Given the description of an element on the screen output the (x, y) to click on. 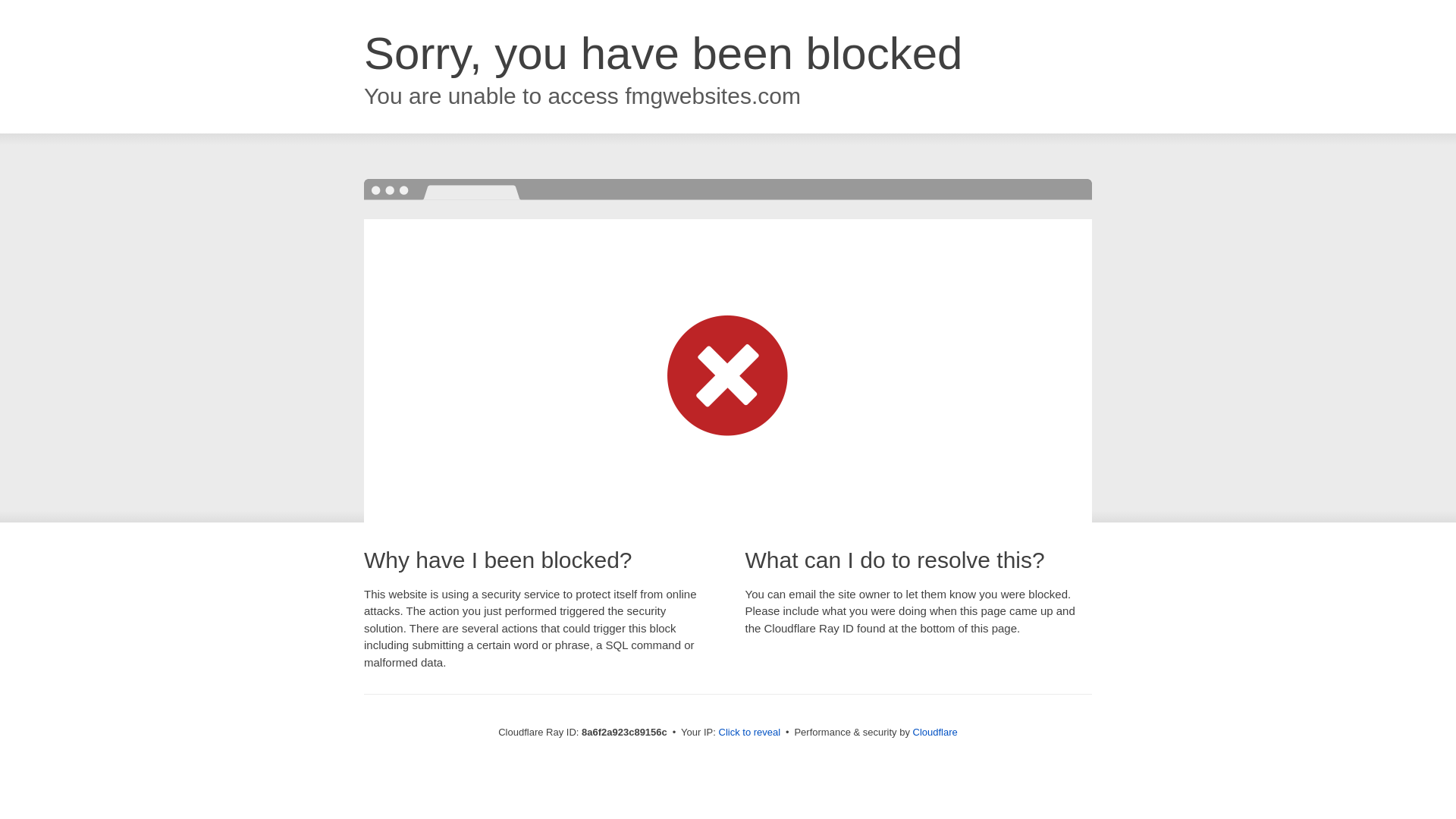
Cloudflare (935, 731)
Click to reveal (749, 732)
